Given the description of an element on the screen output the (x, y) to click on. 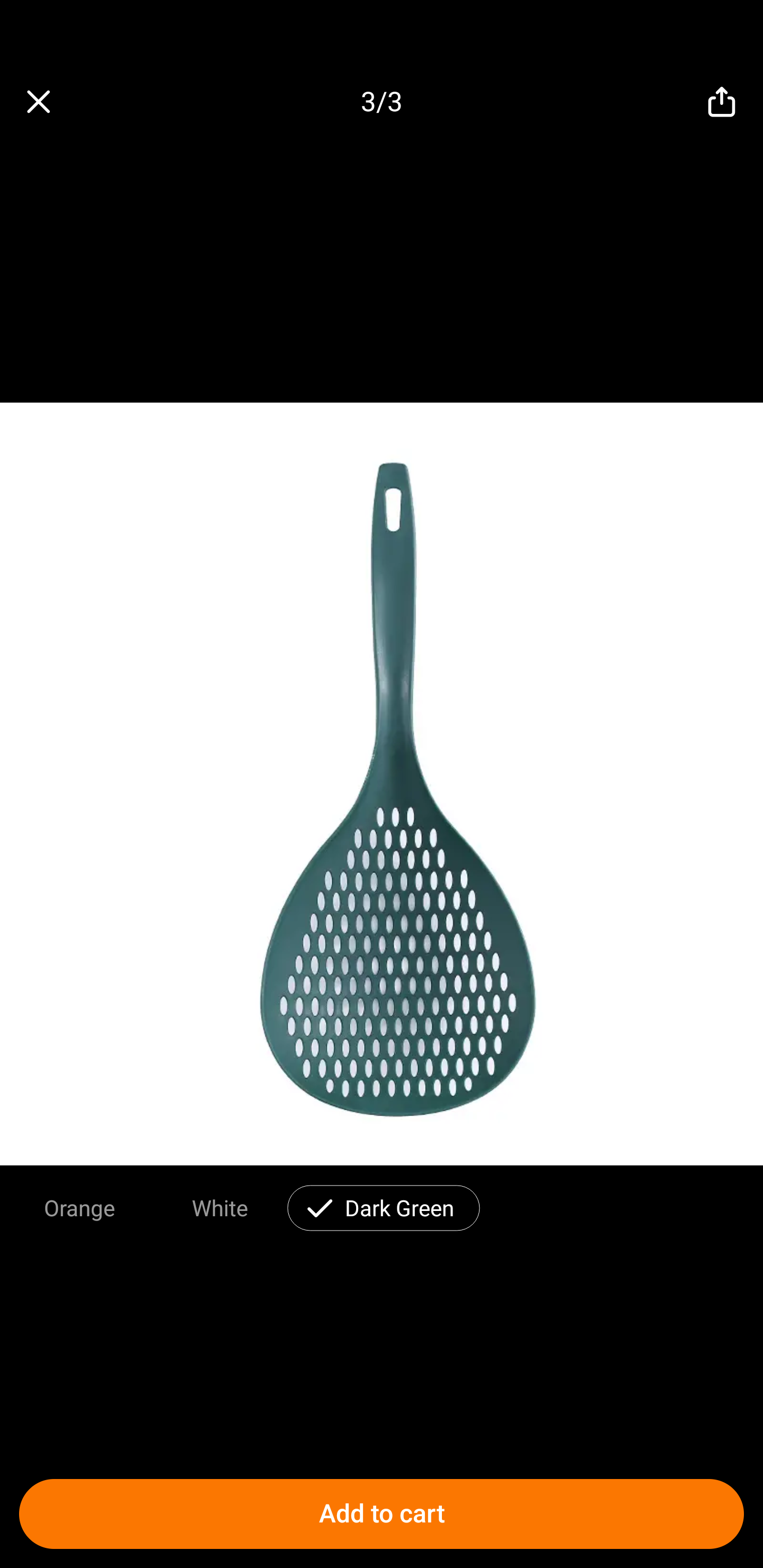
share (721, 101)
Orange White Dark Green (381, 1204)
Orange (79, 1207)
White (219, 1207)
Dark Green (398, 1207)
Add to cart (381, 1513)
